Given the description of an element on the screen output the (x, y) to click on. 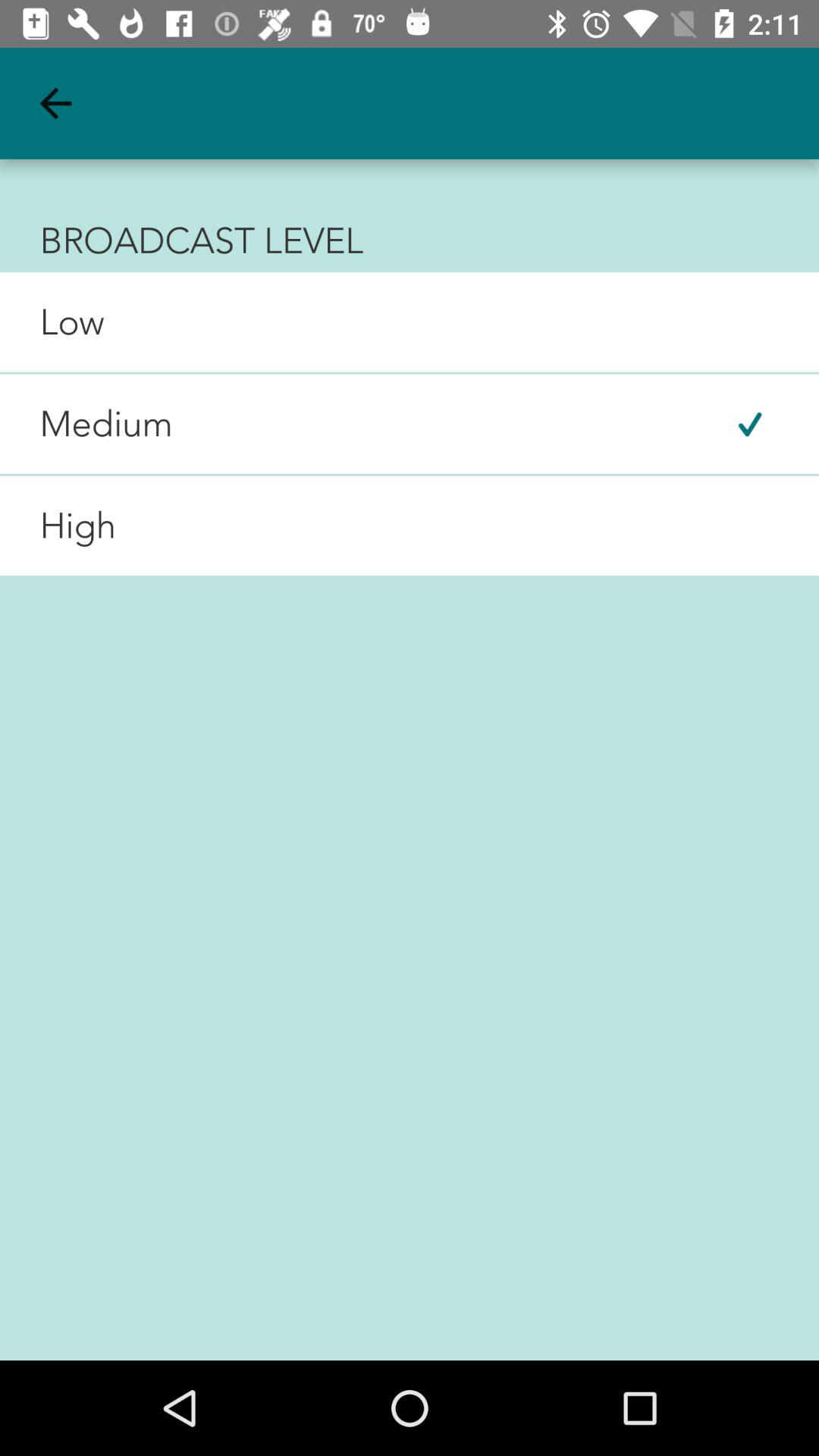
choose medium (86, 423)
